Given the description of an element on the screen output the (x, y) to click on. 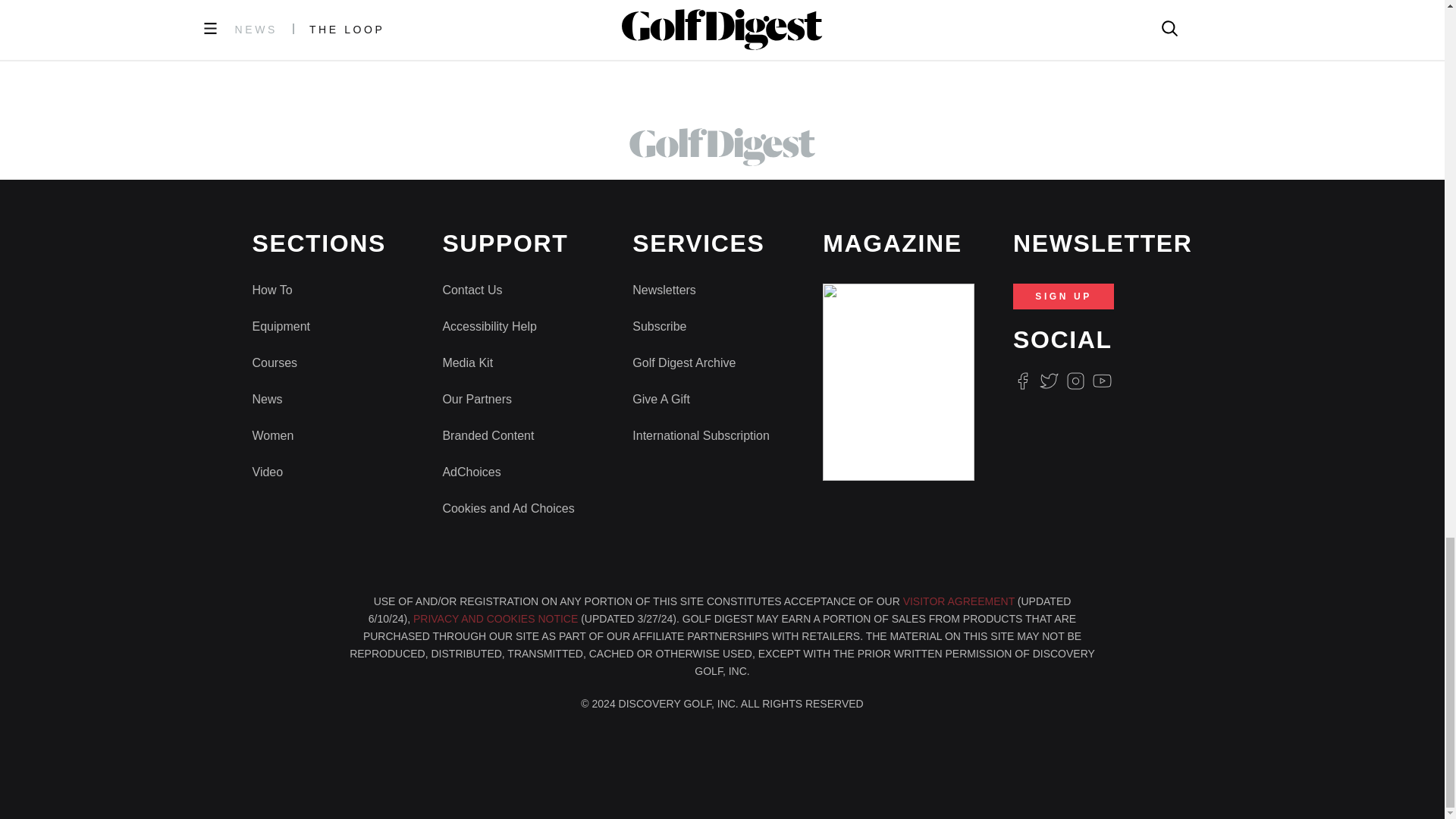
Youtube Icon (1102, 380)
Facebook Logo (1022, 380)
Twitter Logo (1048, 380)
Instagram Logo (1074, 380)
